Given the description of an element on the screen output the (x, y) to click on. 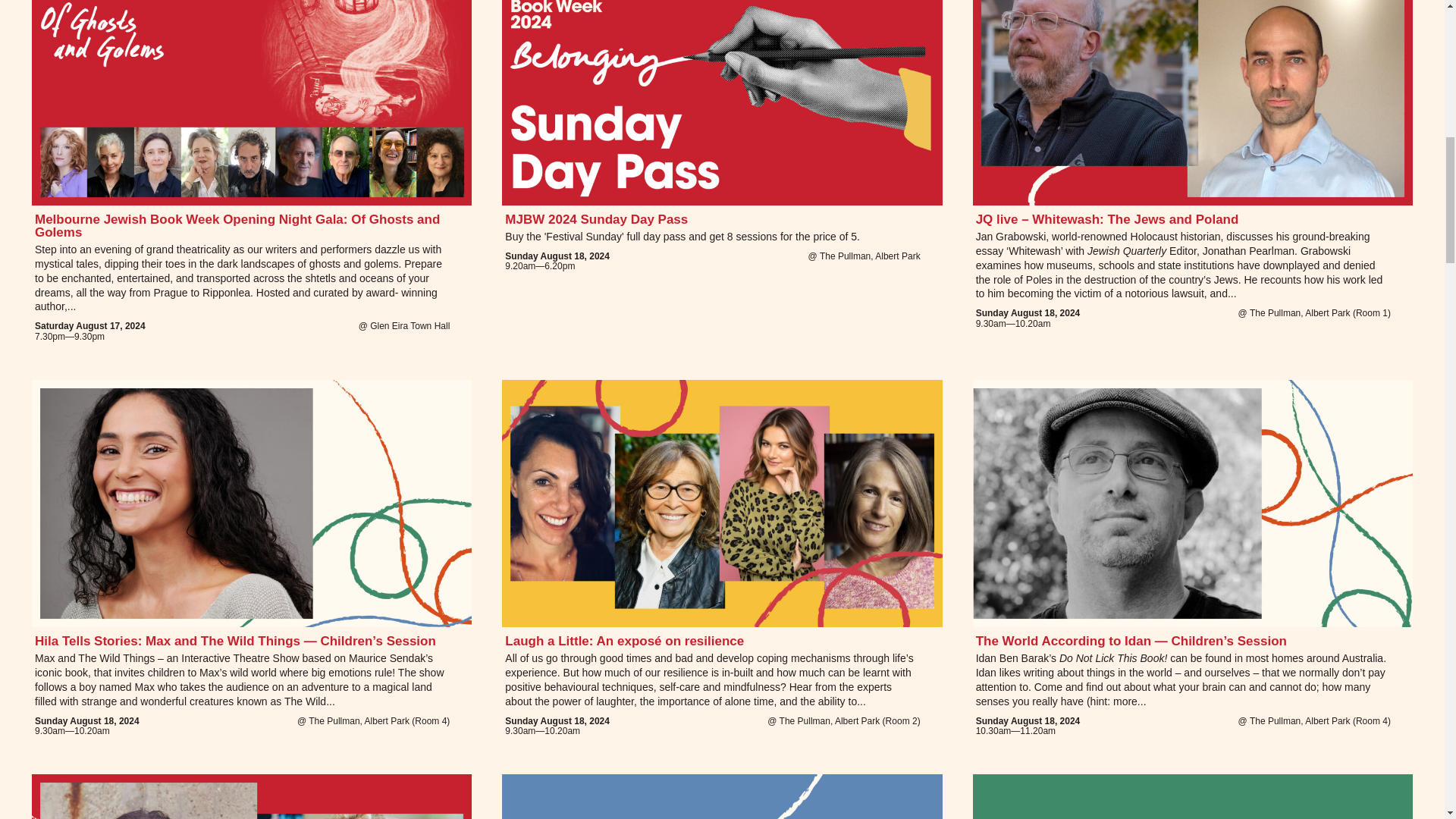
MJBW 2024 Sunday Day Pass (596, 219)
The Pullman, Albert Park (869, 255)
Glen Eira Town Hall (409, 326)
